Given the description of an element on the screen output the (x, y) to click on. 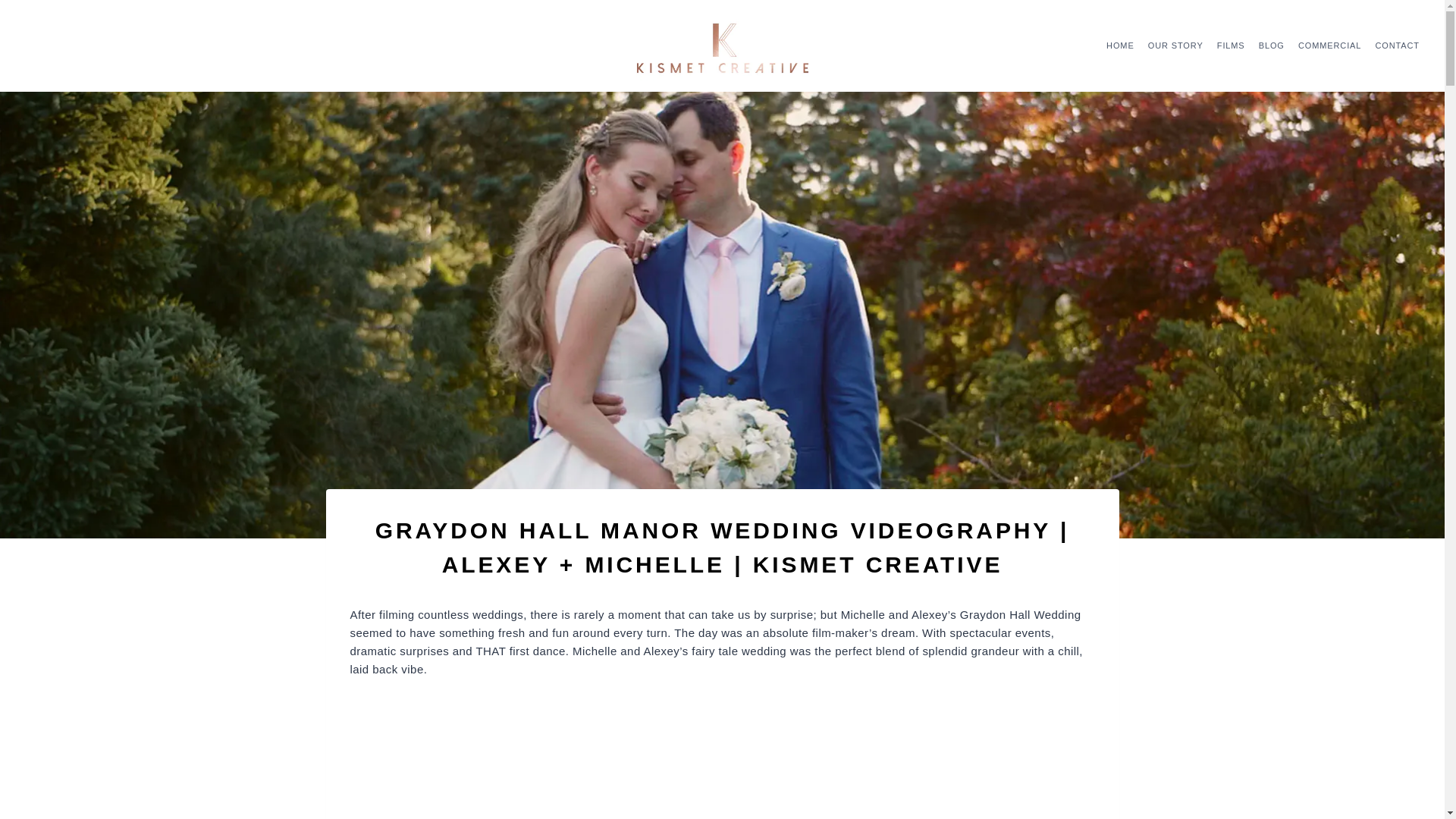
BLOG (1271, 45)
HOME (1120, 45)
COMMERCIAL (1329, 45)
CONTACT (1397, 45)
FILMS (1230, 45)
OUR STORY (1175, 45)
